Given the description of an element on the screen output the (x, y) to click on. 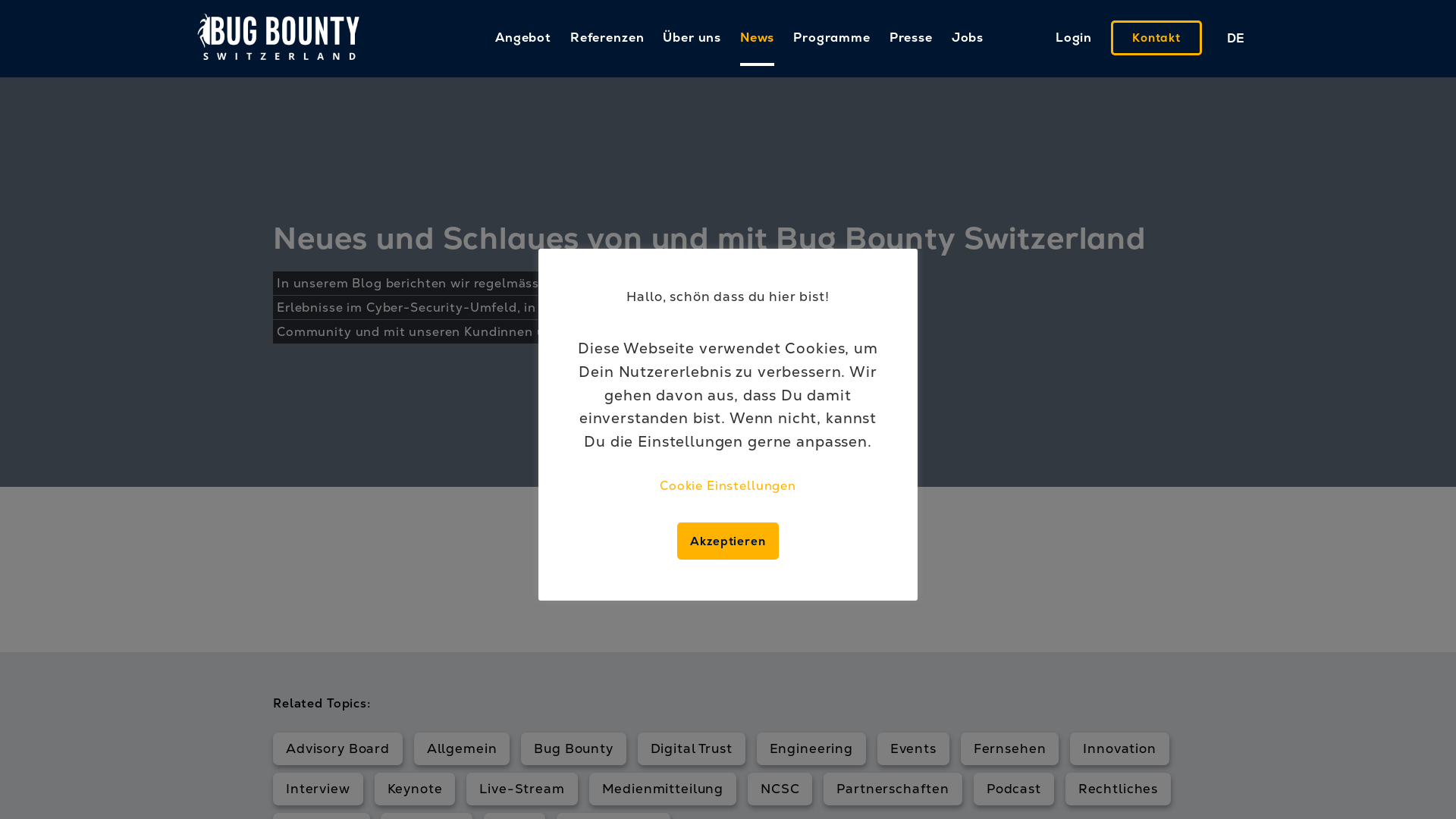
Digital Trust Element type: text (691, 748)
Rechtliches Element type: text (1117, 788)
News Element type: text (757, 38)
Live-Stream Element type: text (521, 788)
Events Element type: text (913, 748)
Podcast Element type: text (1013, 788)
Allgemein Element type: text (461, 748)
Partnerschaften Element type: text (892, 788)
Angebot Element type: text (523, 37)
Akzeptieren Element type: text (727, 541)
Fernsehen Element type: text (1009, 748)
NCSC Element type: text (779, 788)
Referenzen Element type: text (607, 37)
Jobs Element type: text (967, 37)
Presse Element type: text (910, 37)
Login Element type: text (1073, 37)
Interview Element type: text (317, 788)
Advisory Board Element type: text (337, 748)
Bug Bounty Element type: text (573, 748)
Programme Element type: text (831, 37)
Innovation Element type: text (1119, 748)
Medienmitteilung Element type: text (663, 788)
Engineering Element type: text (811, 748)
Cookie Einstellungen Element type: text (727, 485)
Keynote Element type: text (414, 788)
Kontakt Element type: text (1155, 37)
